Given the description of an element on the screen output the (x, y) to click on. 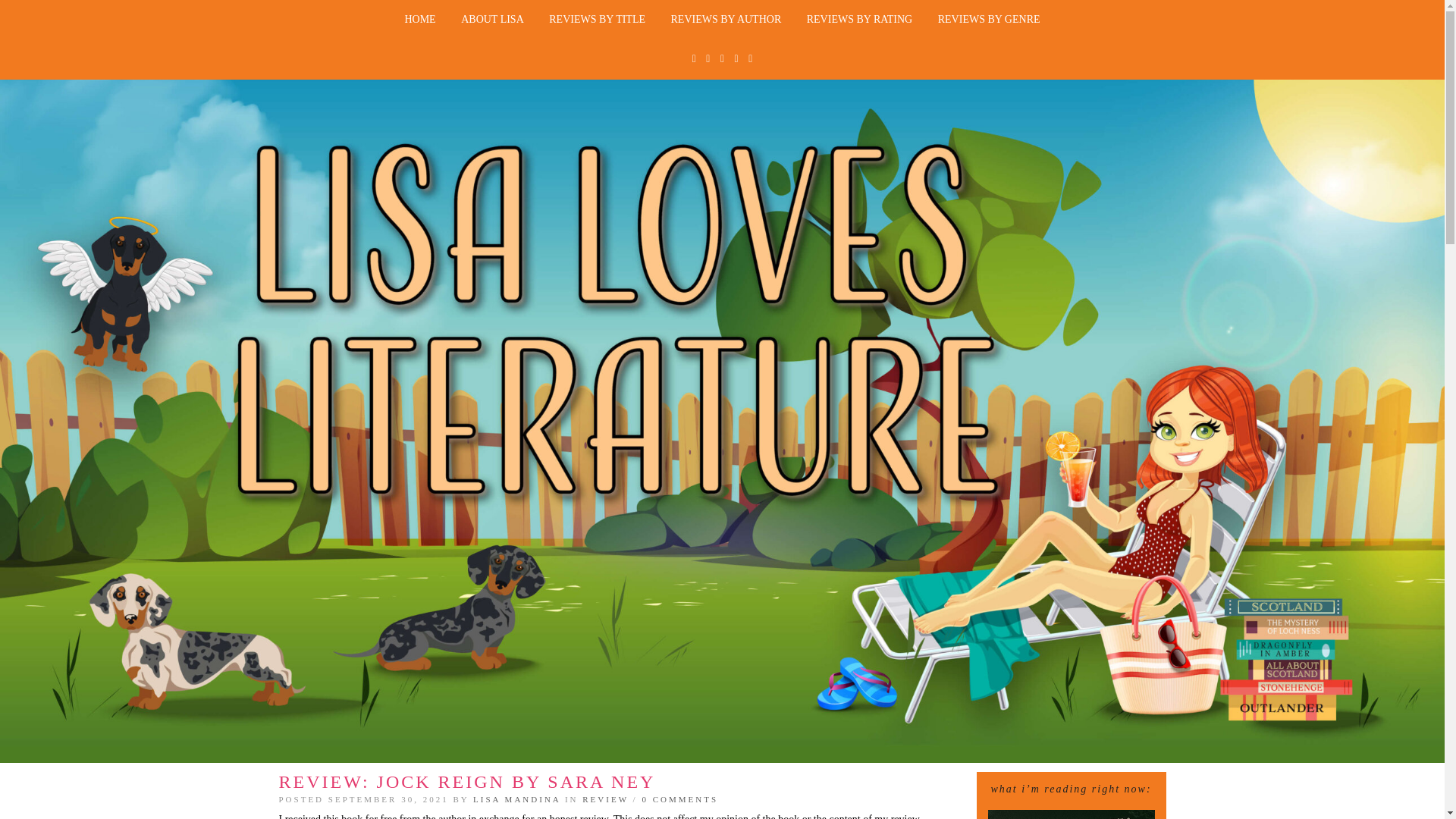
0 COMMENTS (679, 798)
REVIEWS BY TITLE (596, 19)
View all posts in Review (605, 798)
HOME (419, 19)
REVIEWS BY GENRE (988, 19)
REVIEW (605, 798)
LISA MANDINA (516, 798)
ABOUT LISA (492, 19)
REVIEWS BY AUTHOR (726, 19)
REVIEWS BY RATING (858, 19)
